Given the description of an element on the screen output the (x, y) to click on. 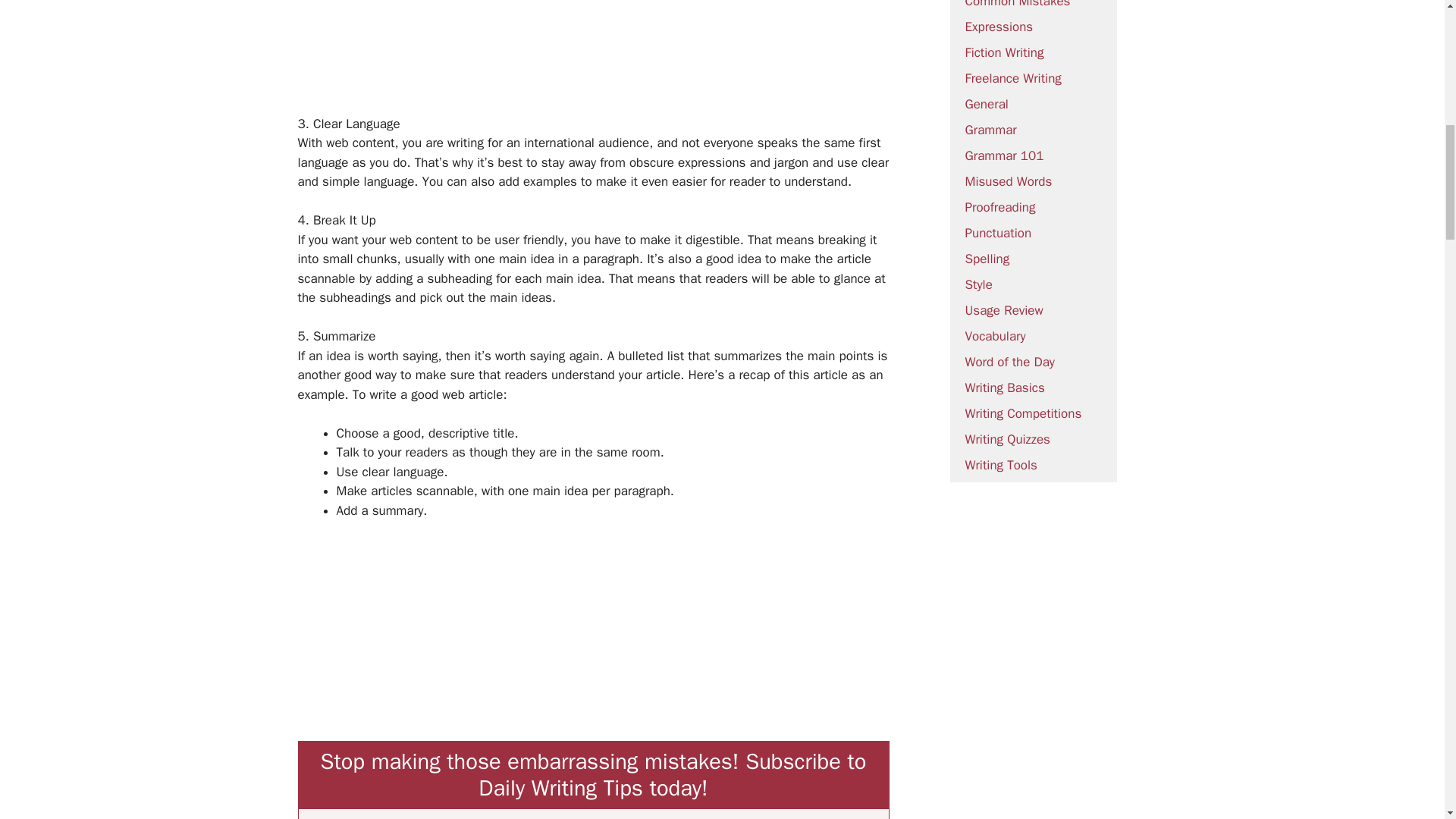
General (985, 104)
Freelance Writing (1012, 78)
Grammar (989, 130)
Grammar 101 (1003, 155)
Common Mistakes (1016, 4)
Expressions (997, 26)
Fiction Writing (1003, 52)
